Given the description of an element on the screen output the (x, y) to click on. 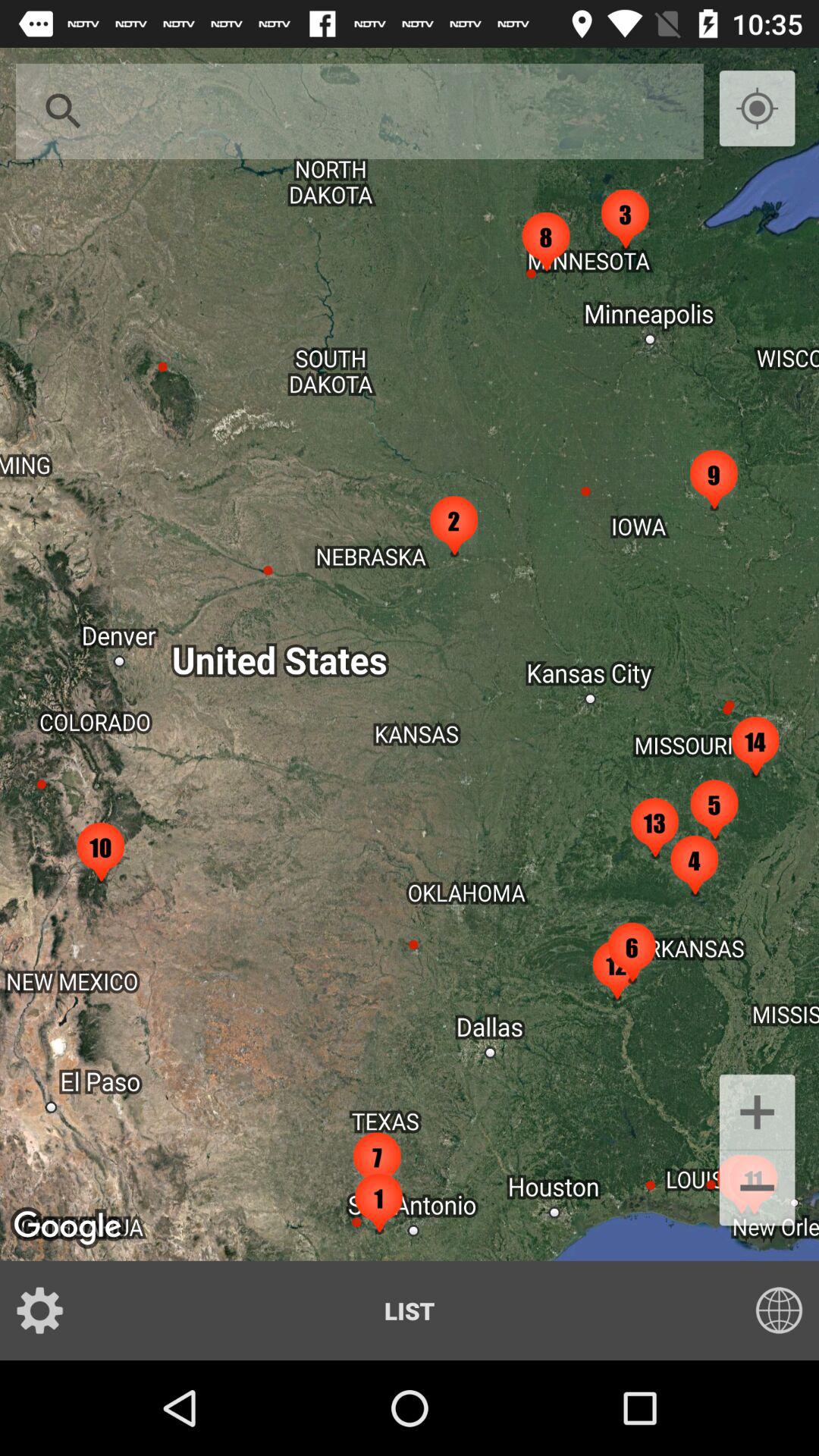
tap item next to the list item (769, 1310)
